Given the description of an element on the screen output the (x, y) to click on. 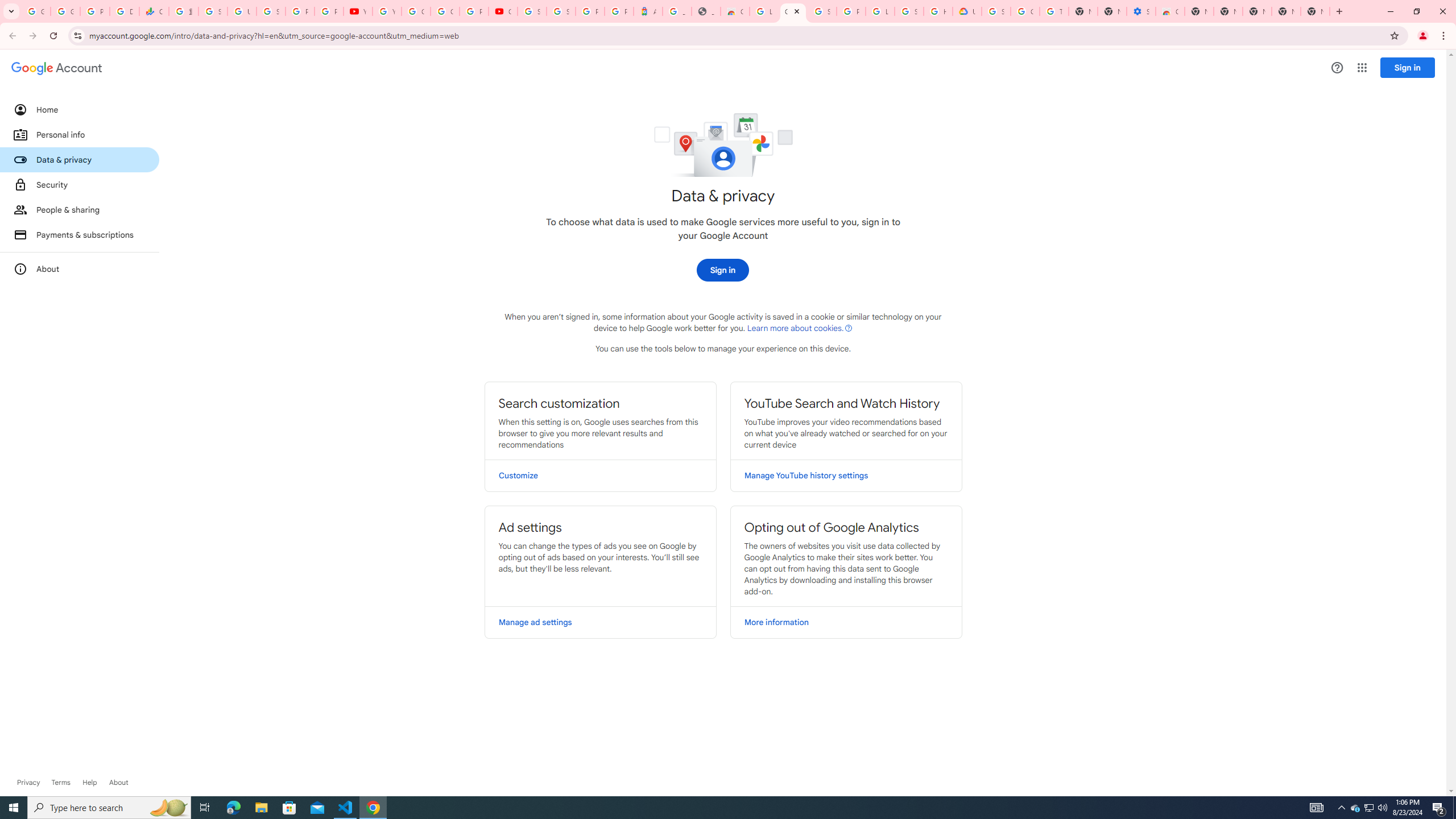
Sign in - Google Accounts (821, 11)
Chrome Web Store - Accessibility extensions (1169, 11)
Learn more about Google Account (118, 782)
Create your Google Account (444, 11)
Settings - Accessibility (1140, 11)
Home (79, 109)
Atour Hotel - Google hotels (648, 11)
